Given the description of an element on the screen output the (x, y) to click on. 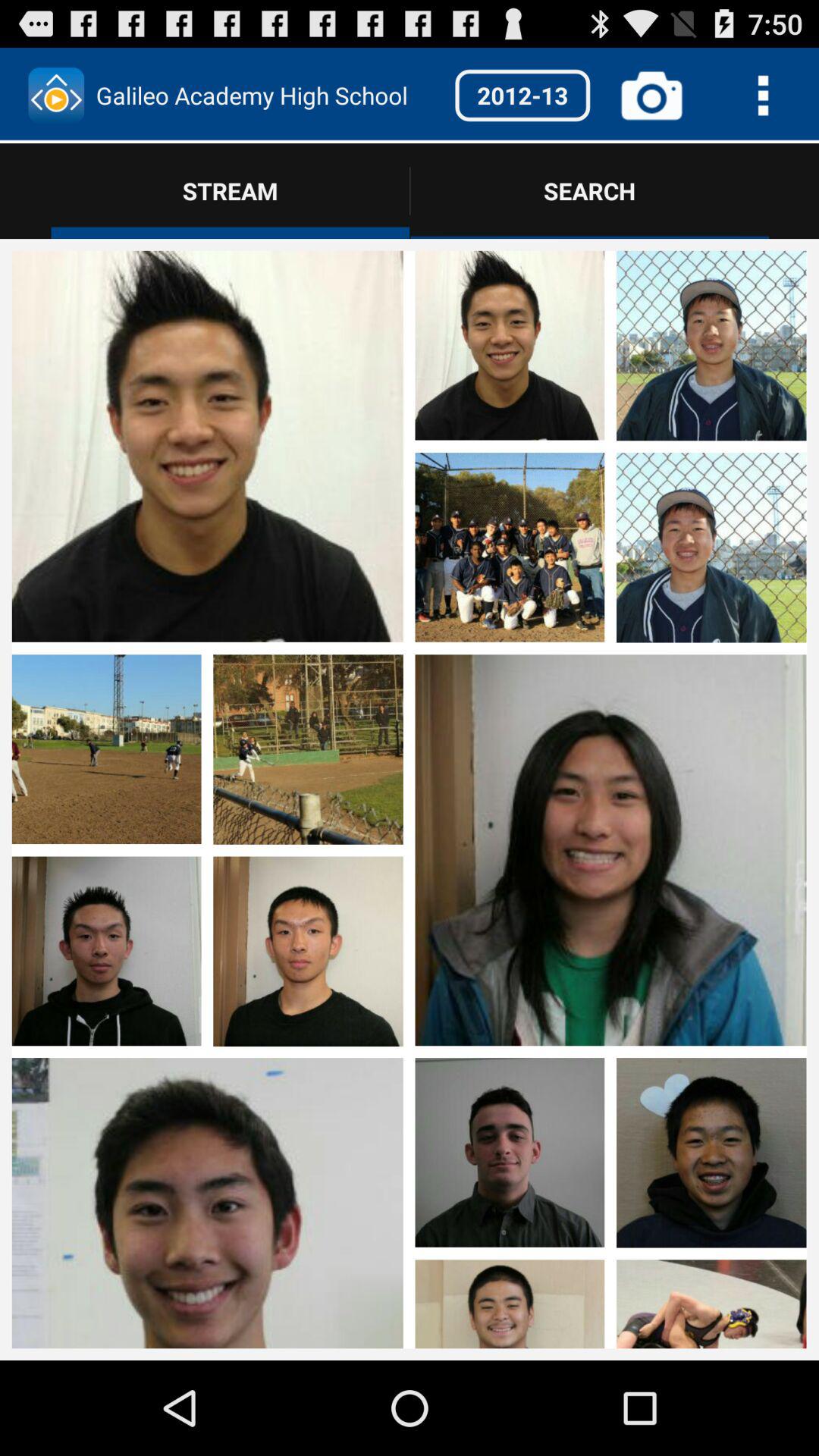
open this set of images (207, 851)
